Given the description of an element on the screen output the (x, y) to click on. 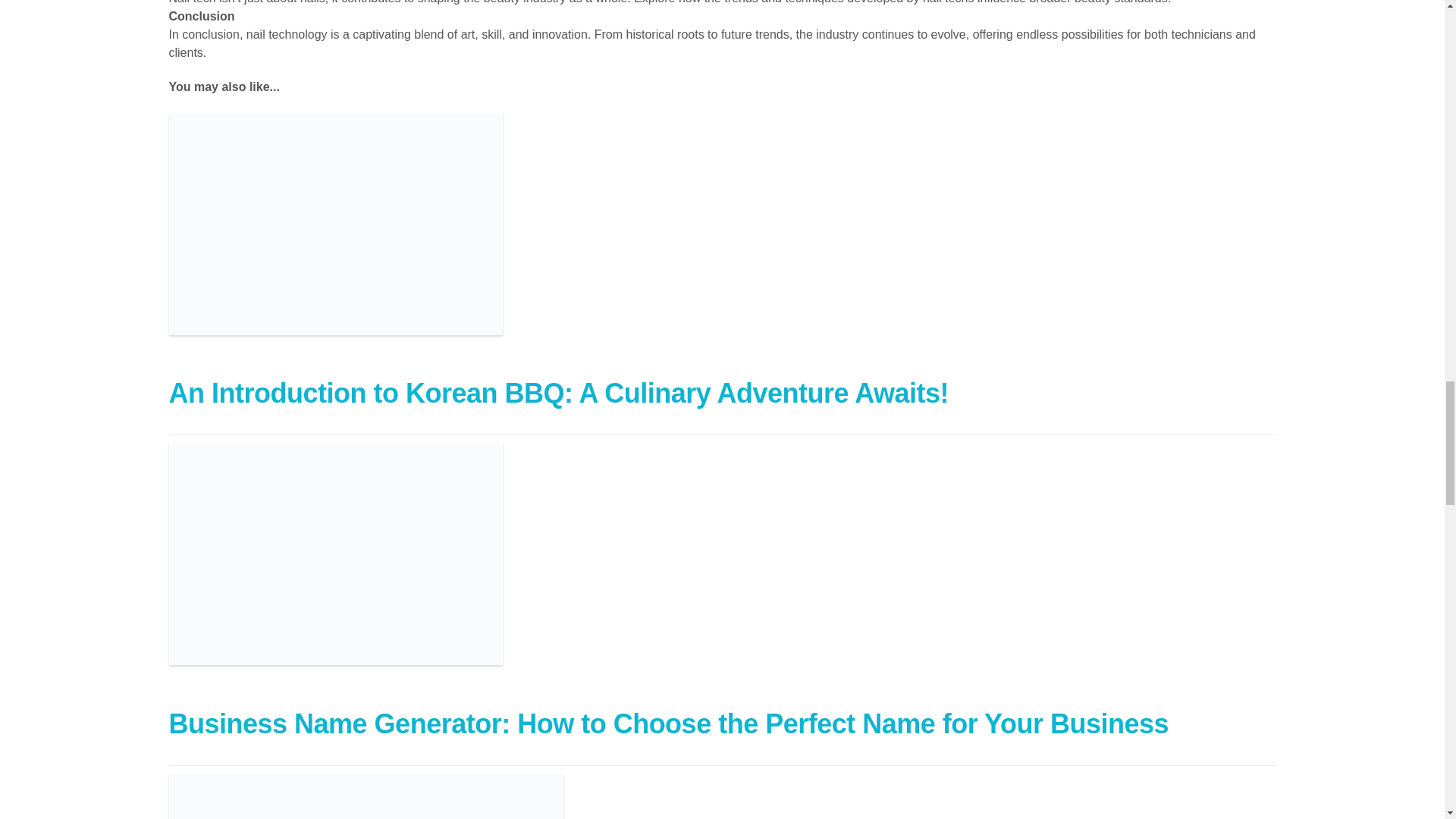
business name generator you choose (335, 554)
An Introduction to Korean BBQ: A Culinary Adventure Awaits! (558, 392)
